Given the description of an element on the screen output the (x, y) to click on. 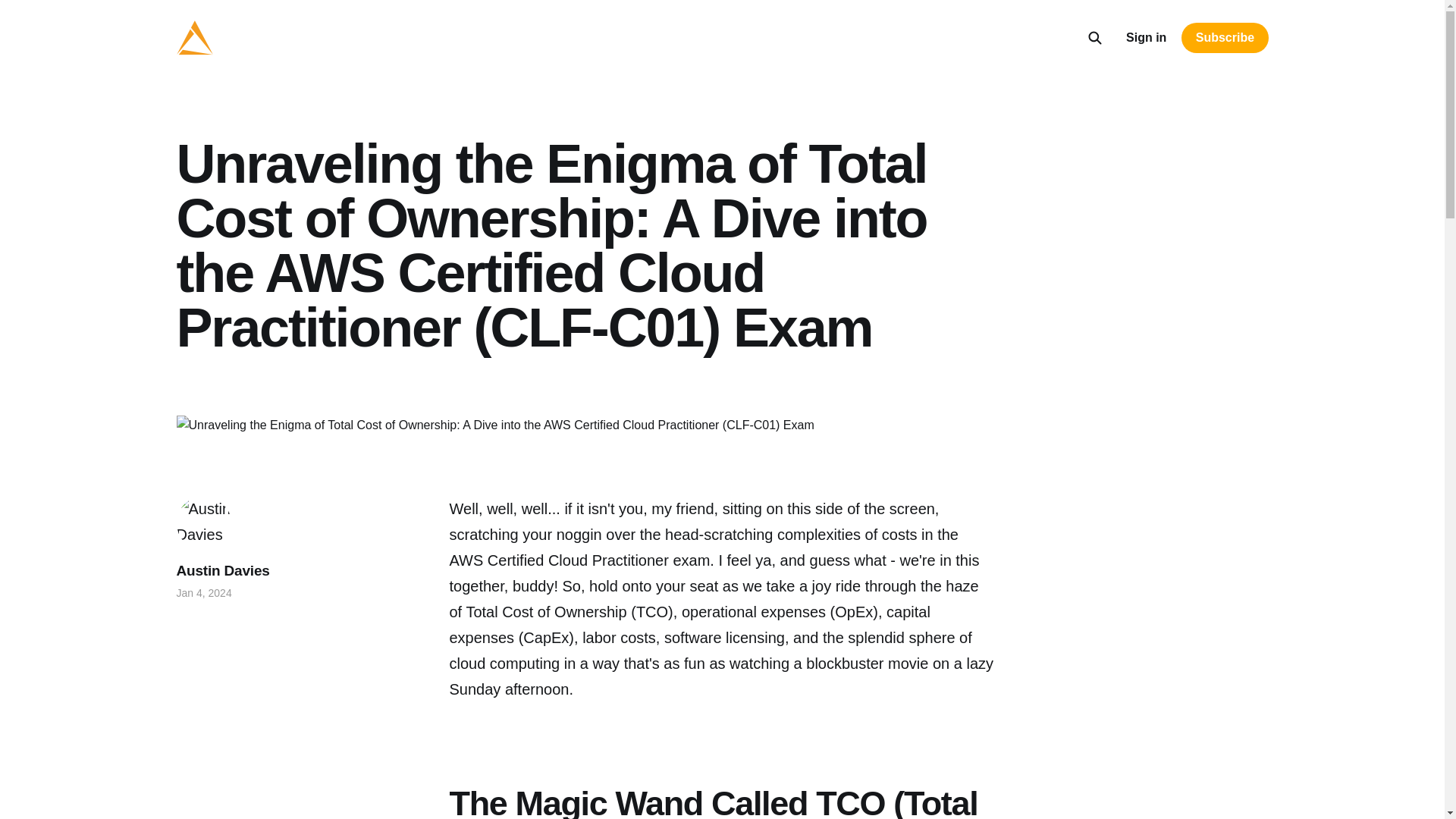
Sign in (1145, 37)
Austin Davies (222, 570)
Subscribe (1224, 37)
